Given the description of an element on the screen output the (x, y) to click on. 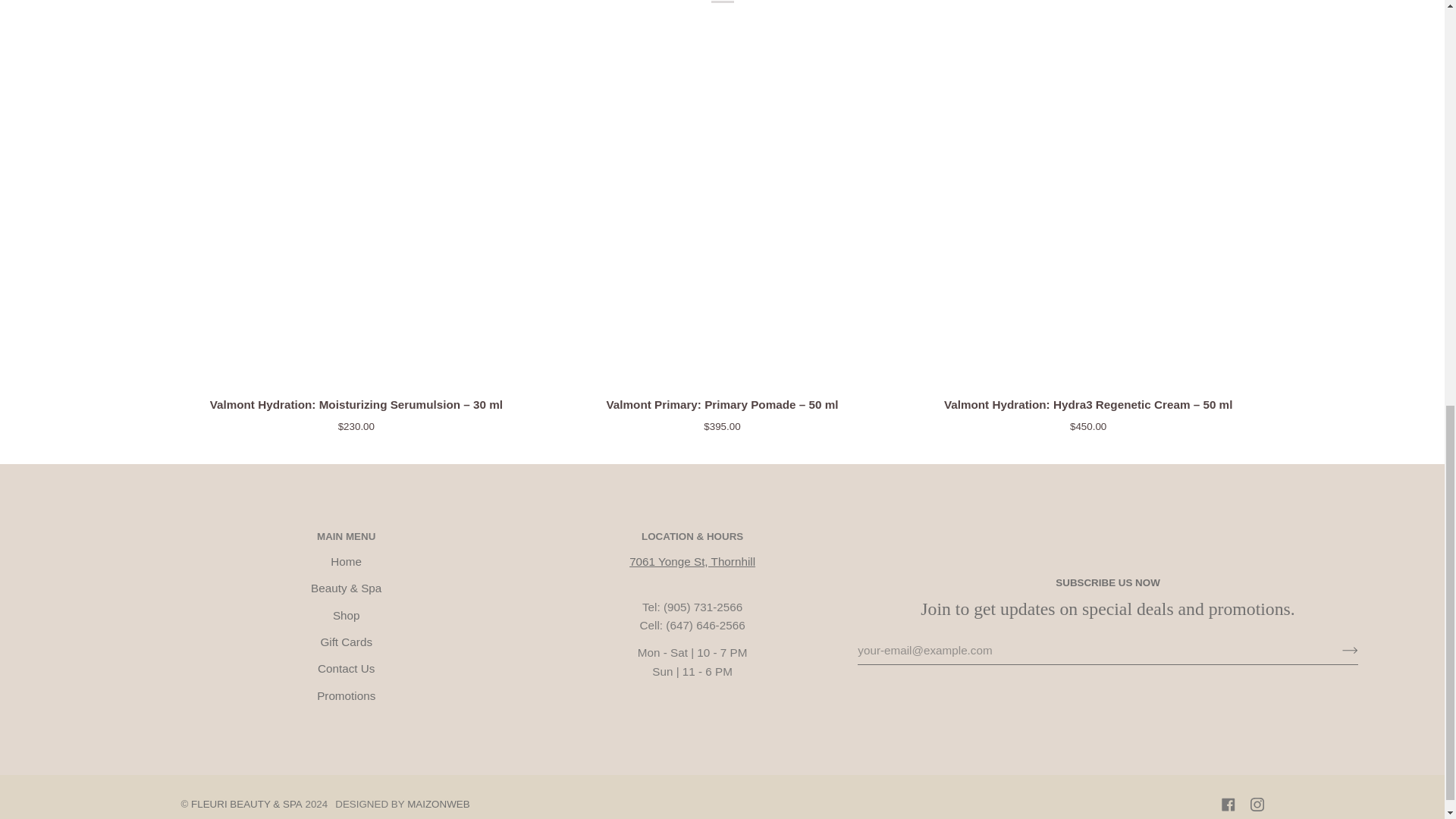
Instagram (1256, 804)
Facebook (1227, 804)
Google Map directions (691, 561)
